Given the description of an element on the screen output the (x, y) to click on. 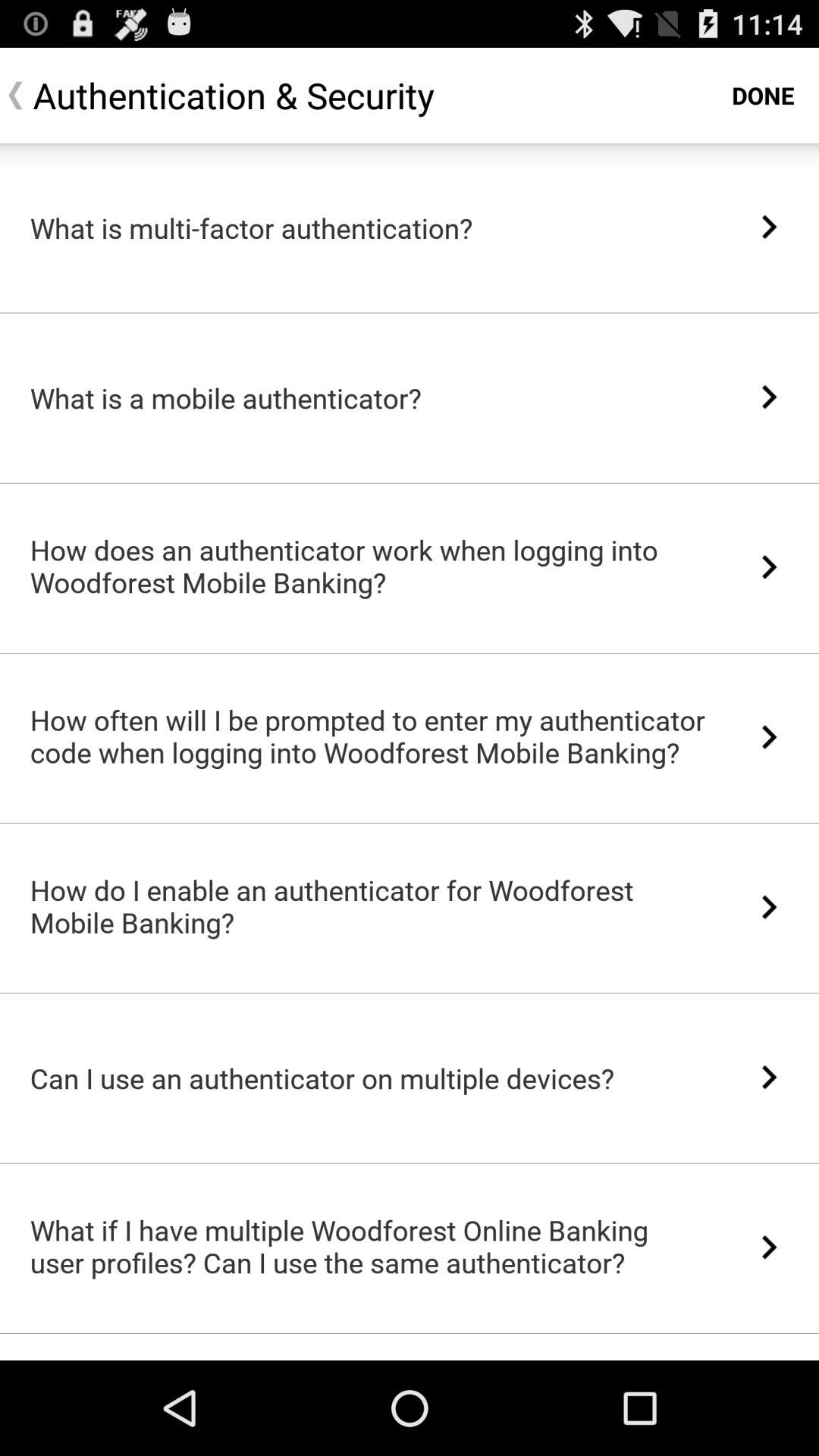
turn on item next to the can i use item (768, 1077)
